Given the description of an element on the screen output the (x, y) to click on. 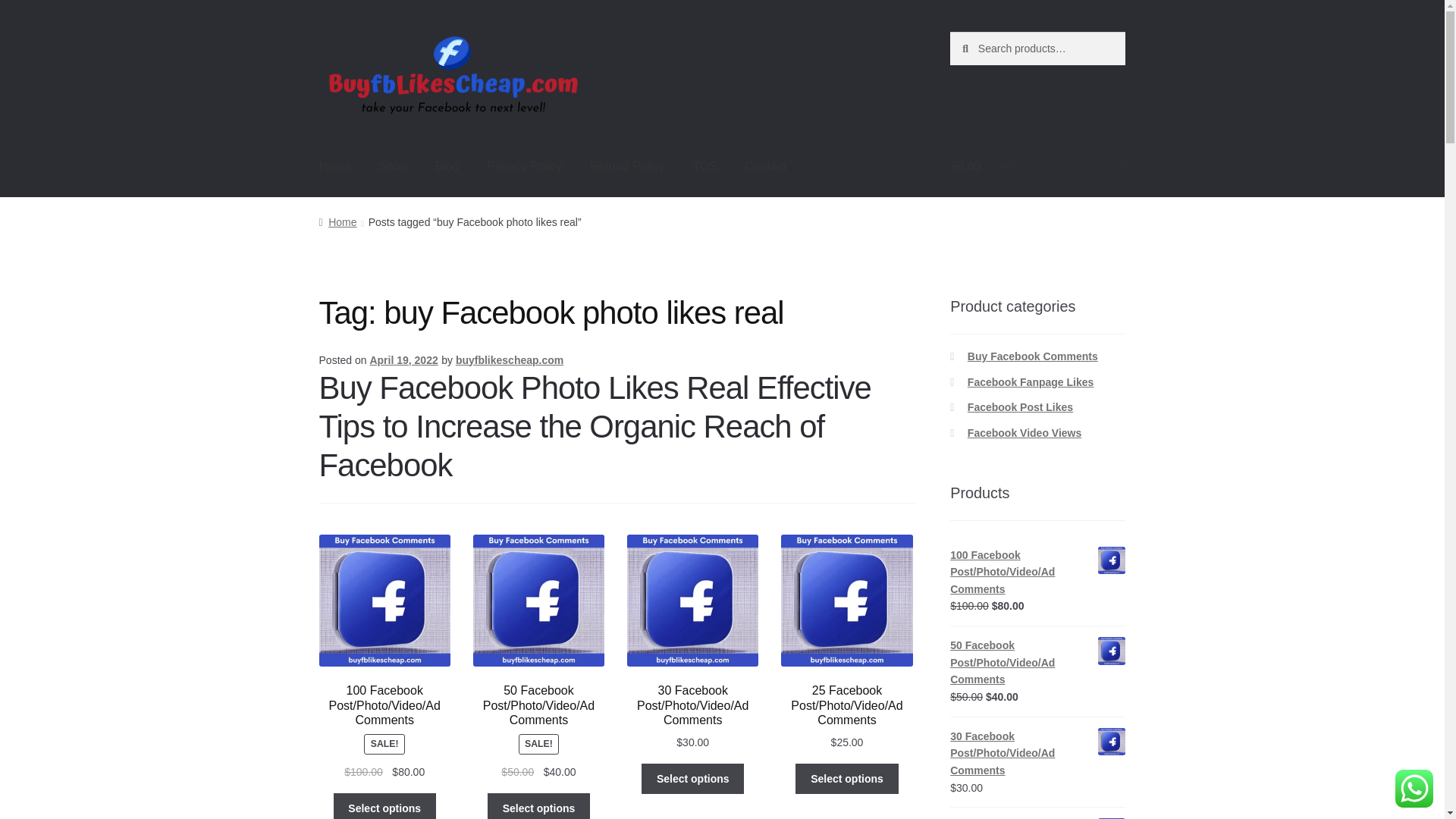
Privacy Policy (524, 166)
Home (337, 222)
Select options (384, 806)
buyfblikescheap.com (509, 358)
Select options (846, 778)
Select options (693, 778)
April 19, 2022 (403, 358)
Select options (538, 806)
Home (335, 166)
